Given the description of an element on the screen output the (x, y) to click on. 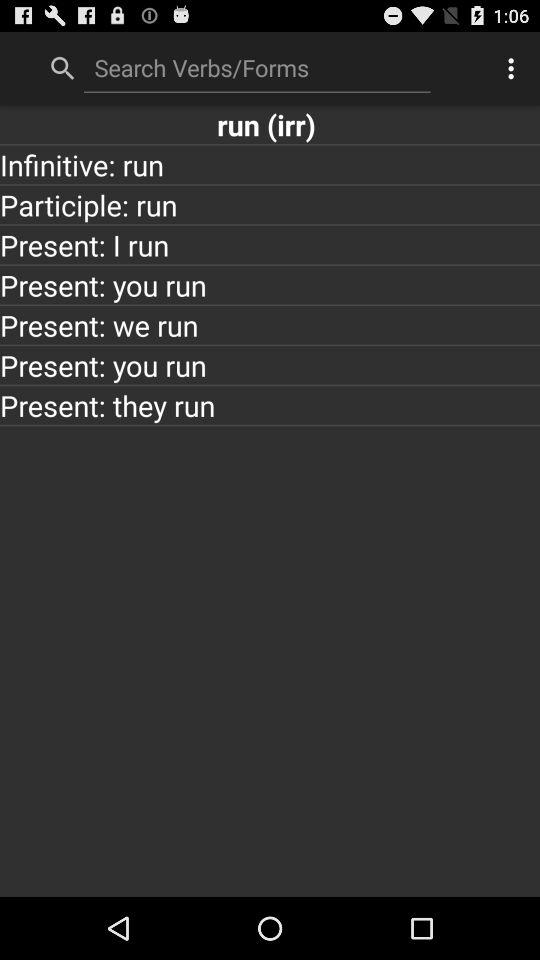
open item above the participle: run (270, 164)
